Given the description of an element on the screen output the (x, y) to click on. 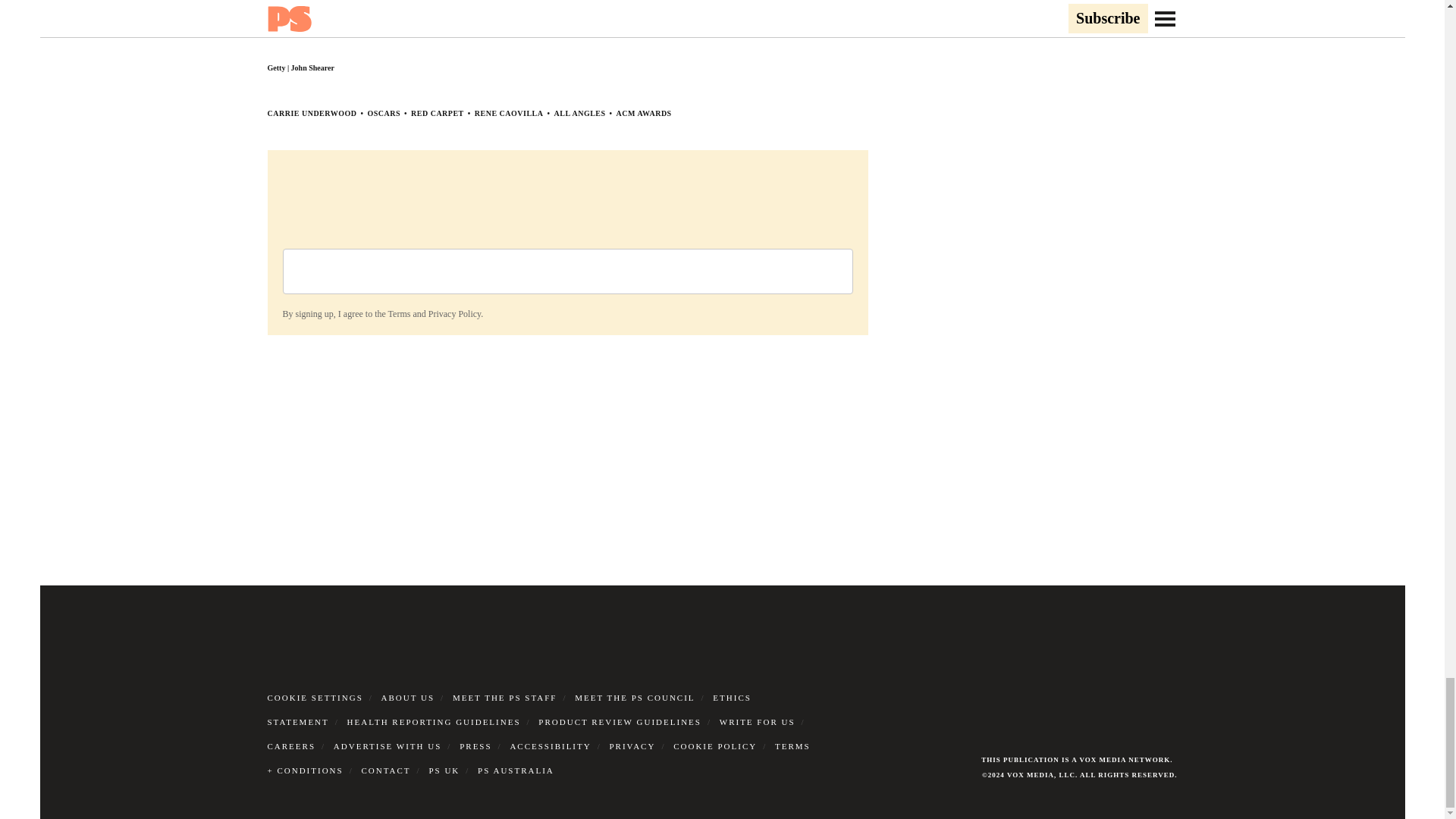
CARRIE UNDERWOOD (311, 112)
MEET THE PS COUNCIL (634, 697)
OSCARS (383, 112)
MEET THE PS STAFF (504, 697)
ABOUT US (408, 697)
Privacy Policy. (455, 313)
ETHICS STATEMENT (508, 709)
RENE CAOVILLA (508, 112)
RED CARPET (437, 112)
WRITE FOR US (756, 721)
CAREERS (290, 746)
Terms (399, 313)
ALL ANGLES (579, 112)
PRODUCT REVIEW GUIDELINES (619, 721)
ACM AWARDS (643, 112)
